Given the description of an element on the screen output the (x, y) to click on. 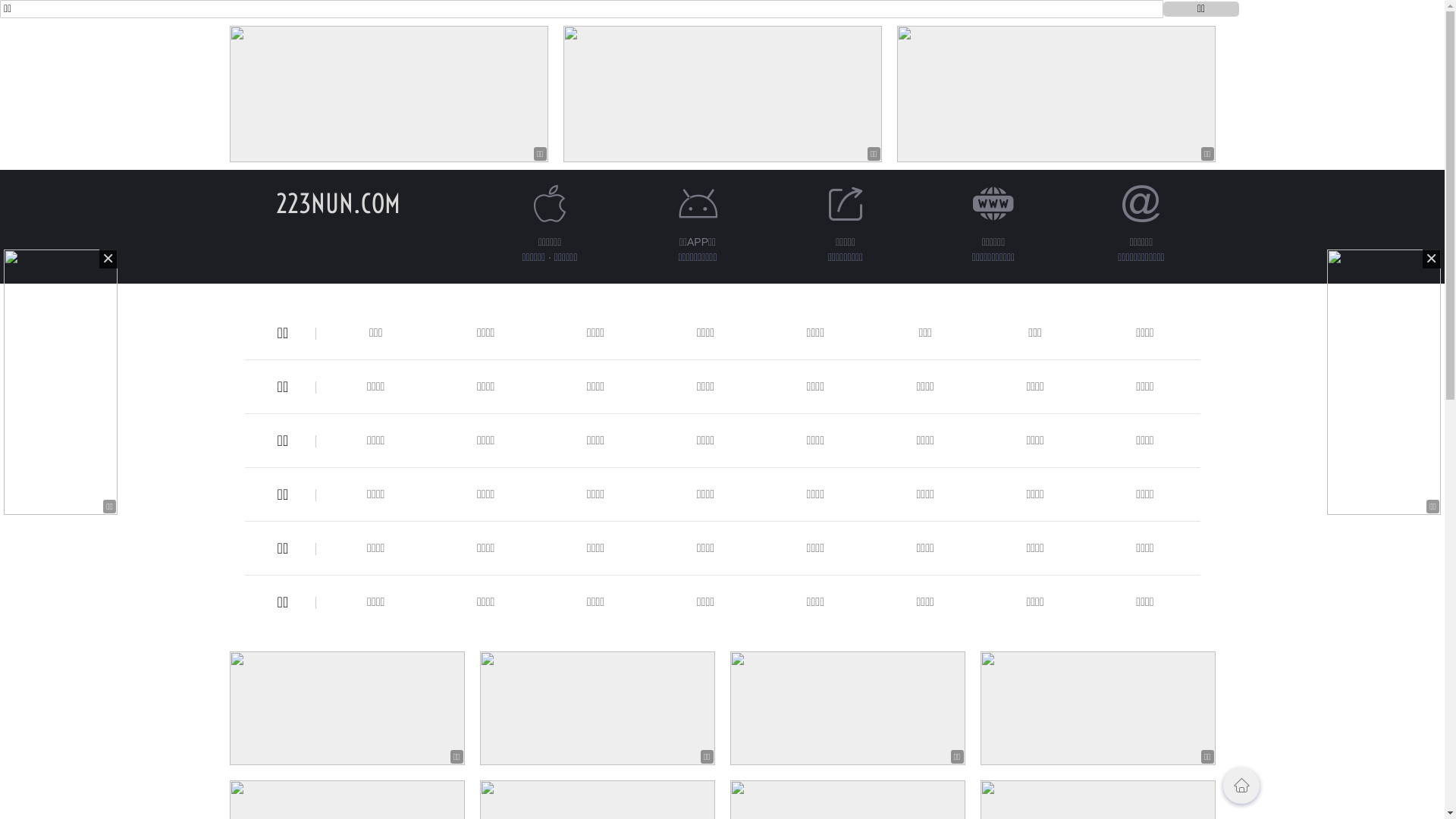
223NUN.COM Element type: text (338, 203)
